Given the description of an element on the screen output the (x, y) to click on. 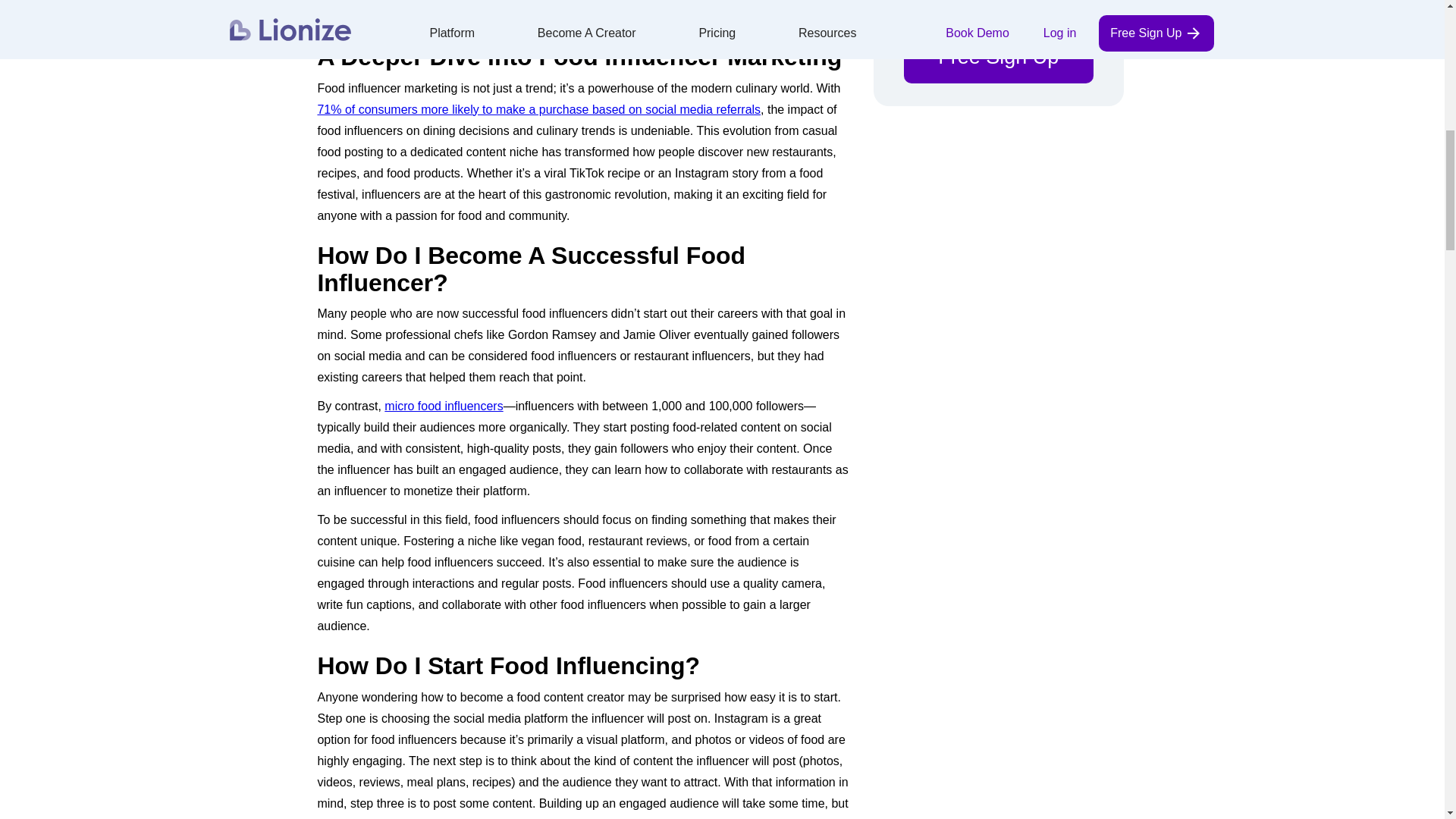
micro food influencers (443, 405)
